Given the description of an element on the screen output the (x, y) to click on. 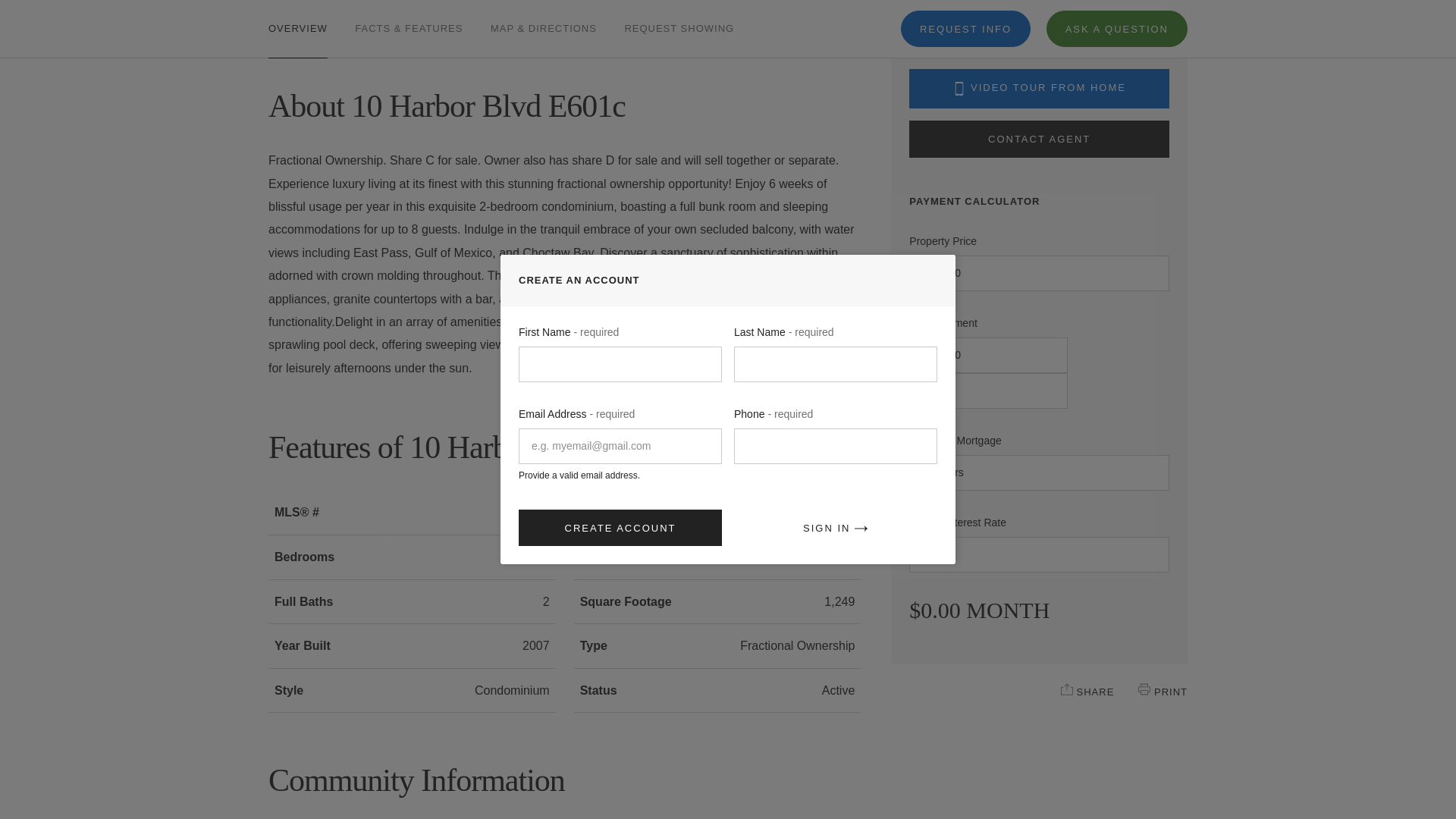
MOBILE ICON (959, 88)
PRINT (1144, 689)
REQUEST SHOWING (678, 18)
SHARE (1067, 689)
OVERVIEW (297, 18)
